Given the description of an element on the screen output the (x, y) to click on. 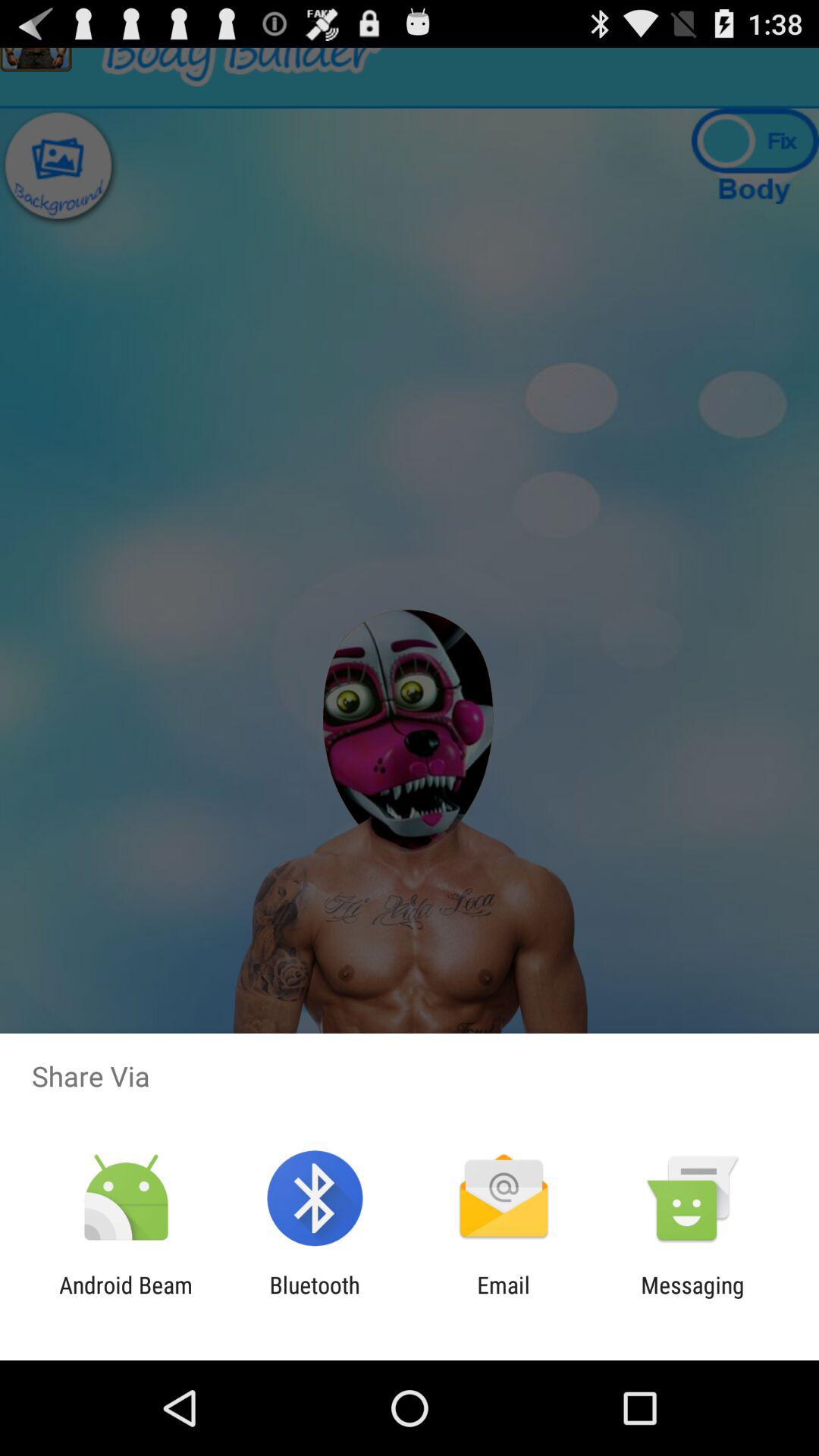
choose app to the right of android beam (314, 1298)
